Given the description of an element on the screen output the (x, y) to click on. 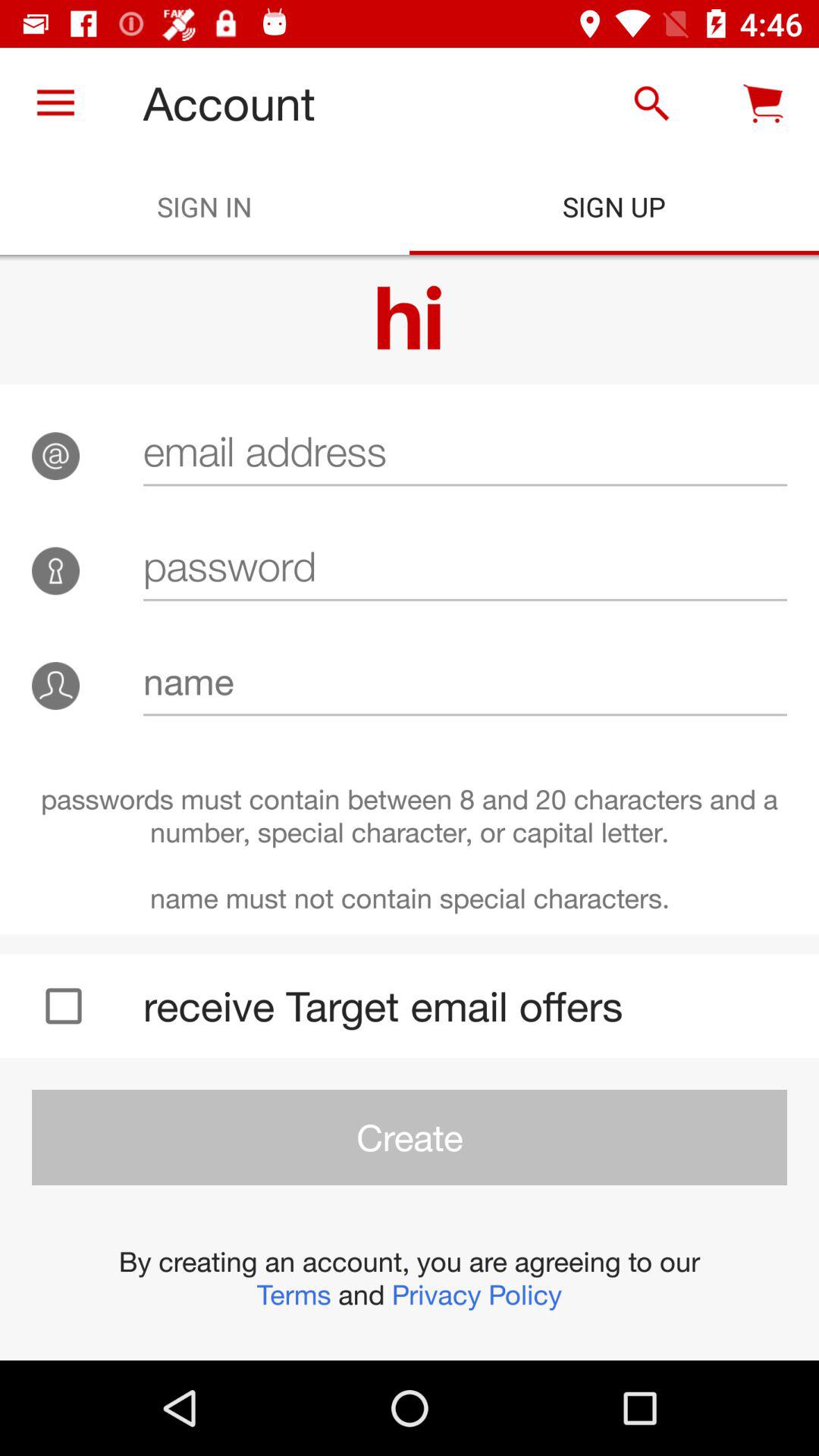
click item next to account item (55, 103)
